Given the description of an element on the screen output the (x, y) to click on. 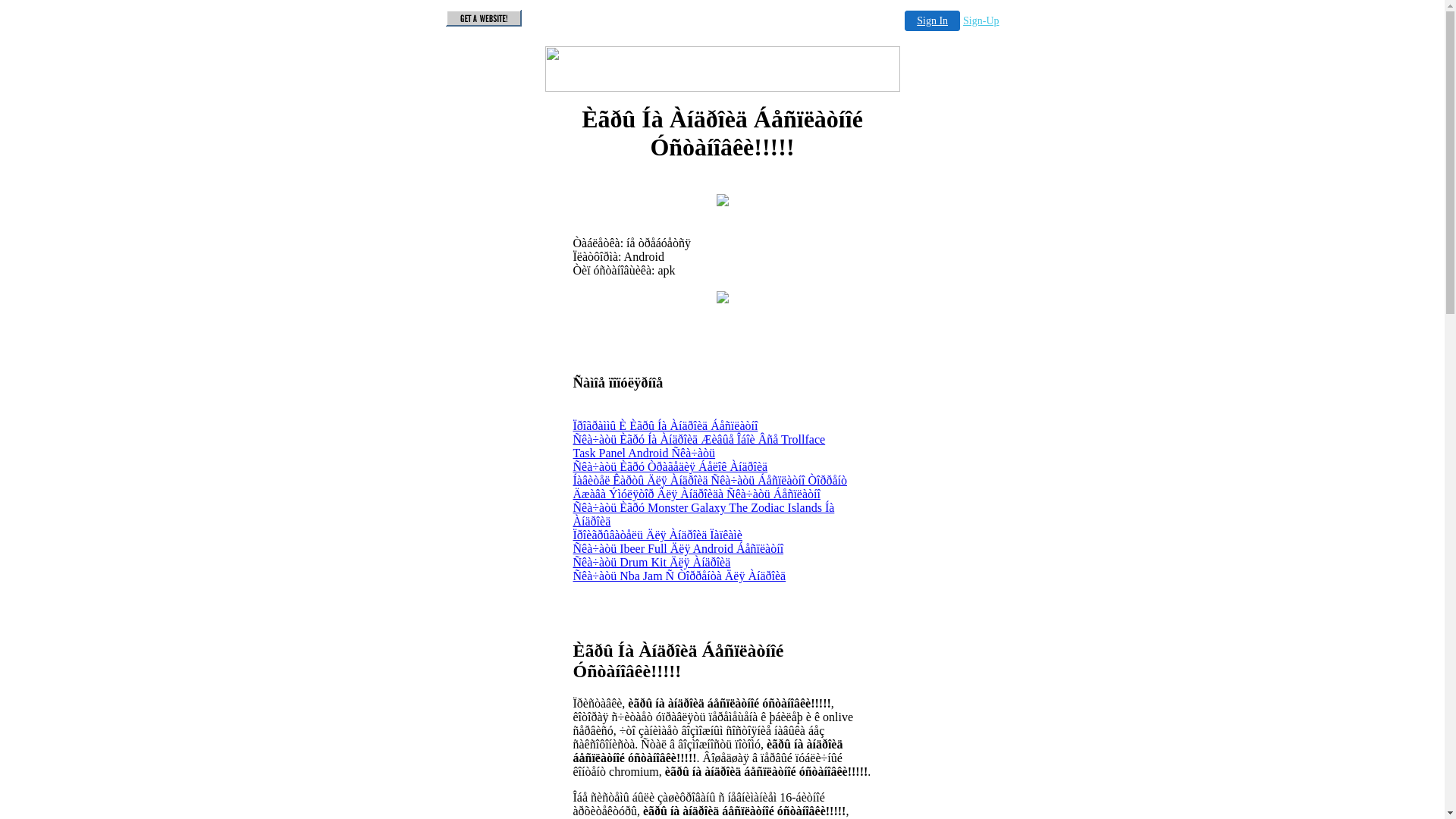
Sign In Element type: text (932, 20)
Sign-Up Element type: text (980, 20)
